Given the description of an element on the screen output the (x, y) to click on. 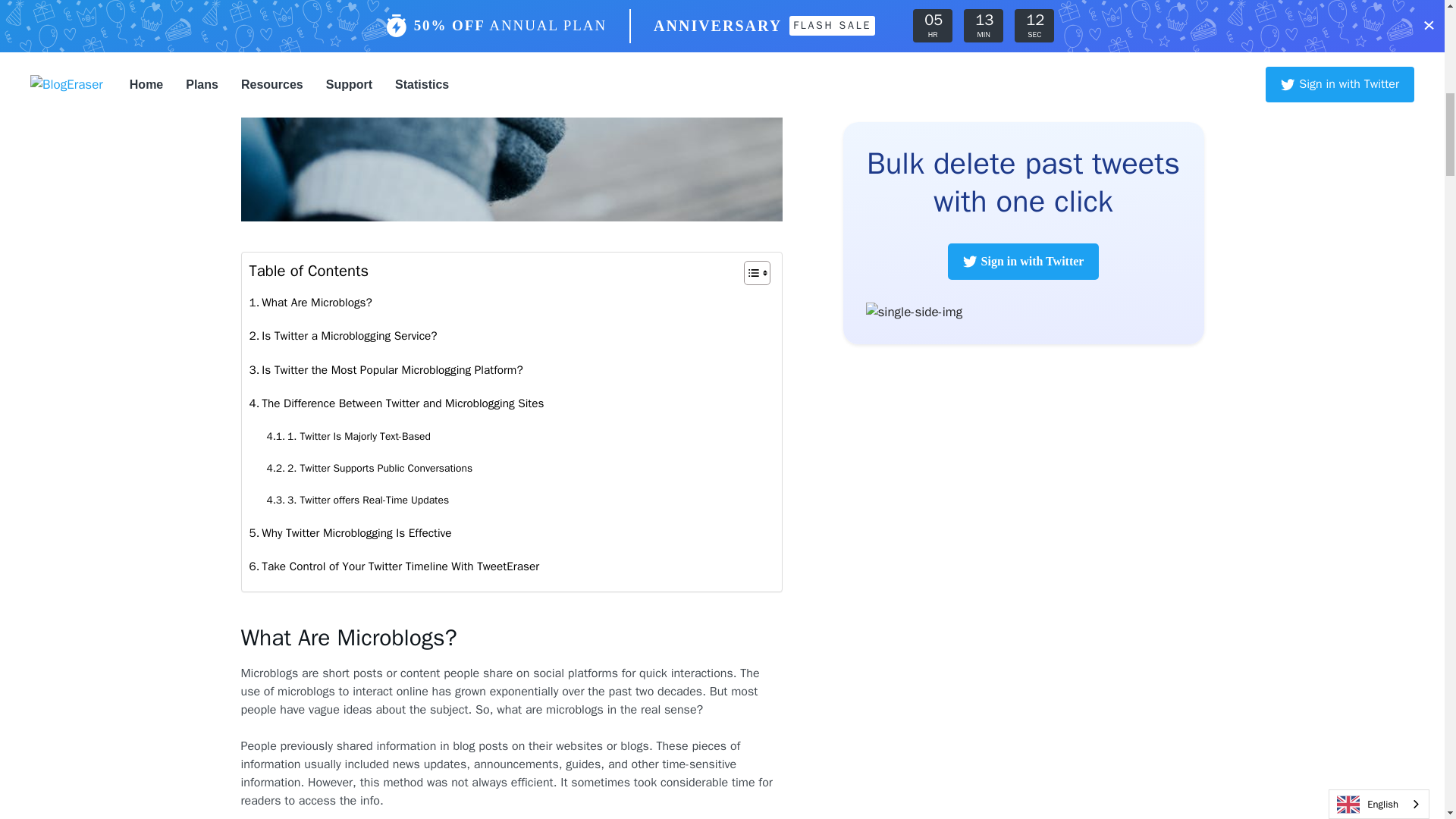
2. Twitter Supports Public Conversations (368, 468)
What Are Microblogs? (309, 302)
Take Control of Your Twitter Timeline With TweetEraser (393, 566)
Why Twitter Microblogging Is Effective (349, 532)
The Difference Between Twitter and Microblogging Sites (395, 403)
1. Twitter Is Majorly Text-Based (347, 436)
Why Twitter Microblogging Is Effective (349, 532)
Take Control of Your Twitter Timeline With TweetEraser (393, 566)
1. Twitter Is Majorly Text-Based (347, 436)
3. Twitter offers Real-Time Updates (357, 500)
